Given the description of an element on the screen output the (x, y) to click on. 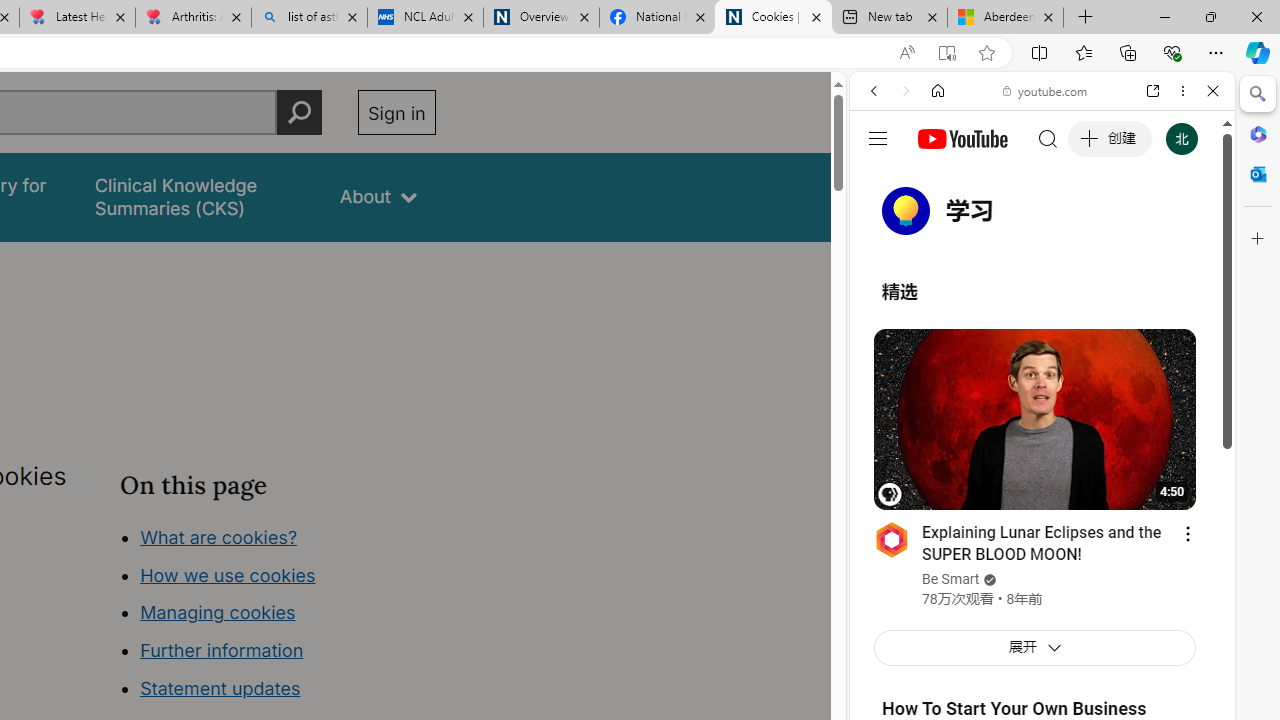
Further information (221, 650)
youtube.com (1046, 90)
